Given the description of an element on the screen output the (x, y) to click on. 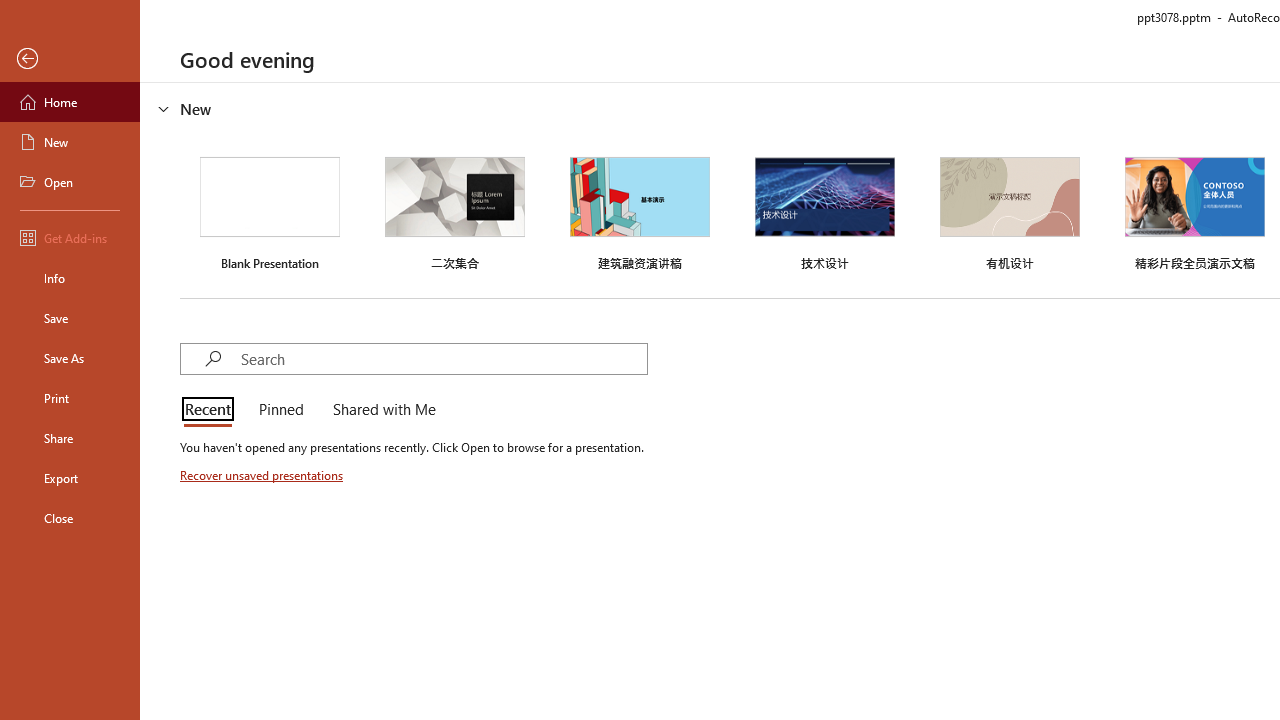
Hide or show region (164, 108)
Save As (69, 357)
Shared with Me (379, 410)
Recent (212, 410)
Search (443, 358)
Recover unsaved presentations (263, 475)
Pinned (280, 410)
Print (69, 398)
